Given the description of an element on the screen output the (x, y) to click on. 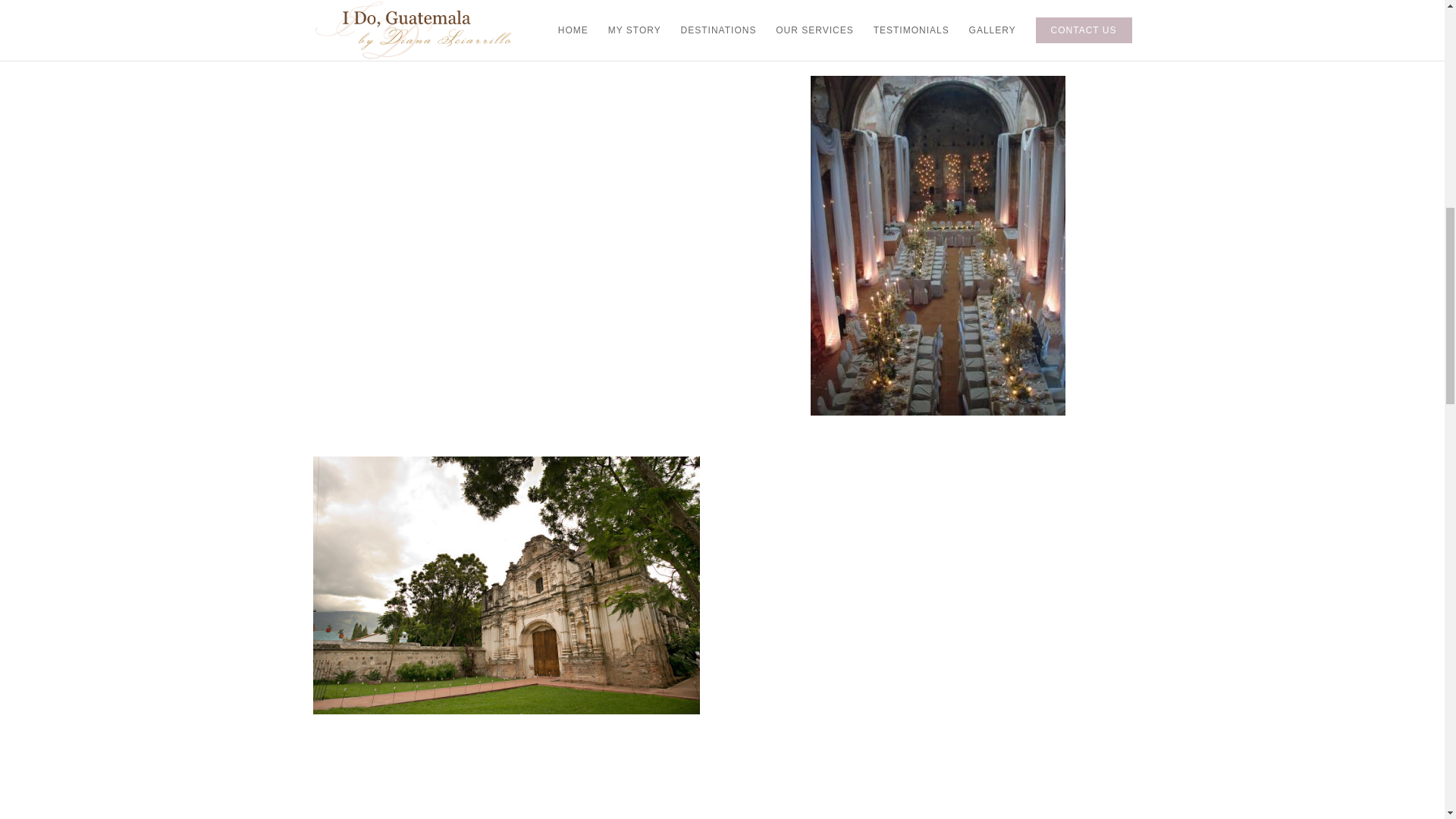
san-jose-viejo-various-1 (505, 585)
